Given the description of an element on the screen output the (x, y) to click on. 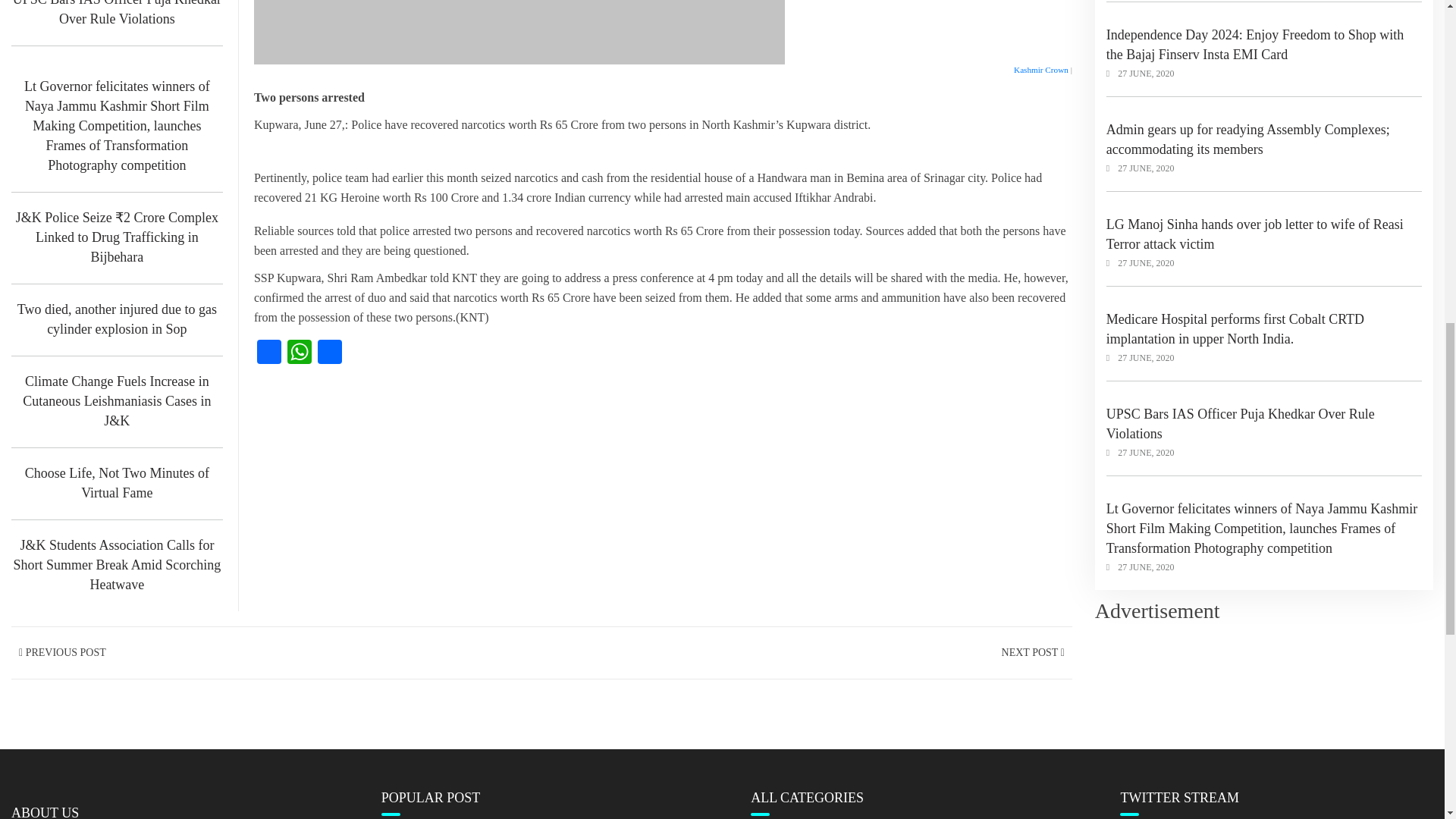
Facebook (268, 353)
WhatsApp (298, 353)
Choose Life, Not Two Minutes of Virtual Fame (116, 482)
UPSC Bars IAS Officer Puja Khedkar Over Rule Violations (116, 14)
